Given the description of an element on the screen output the (x, y) to click on. 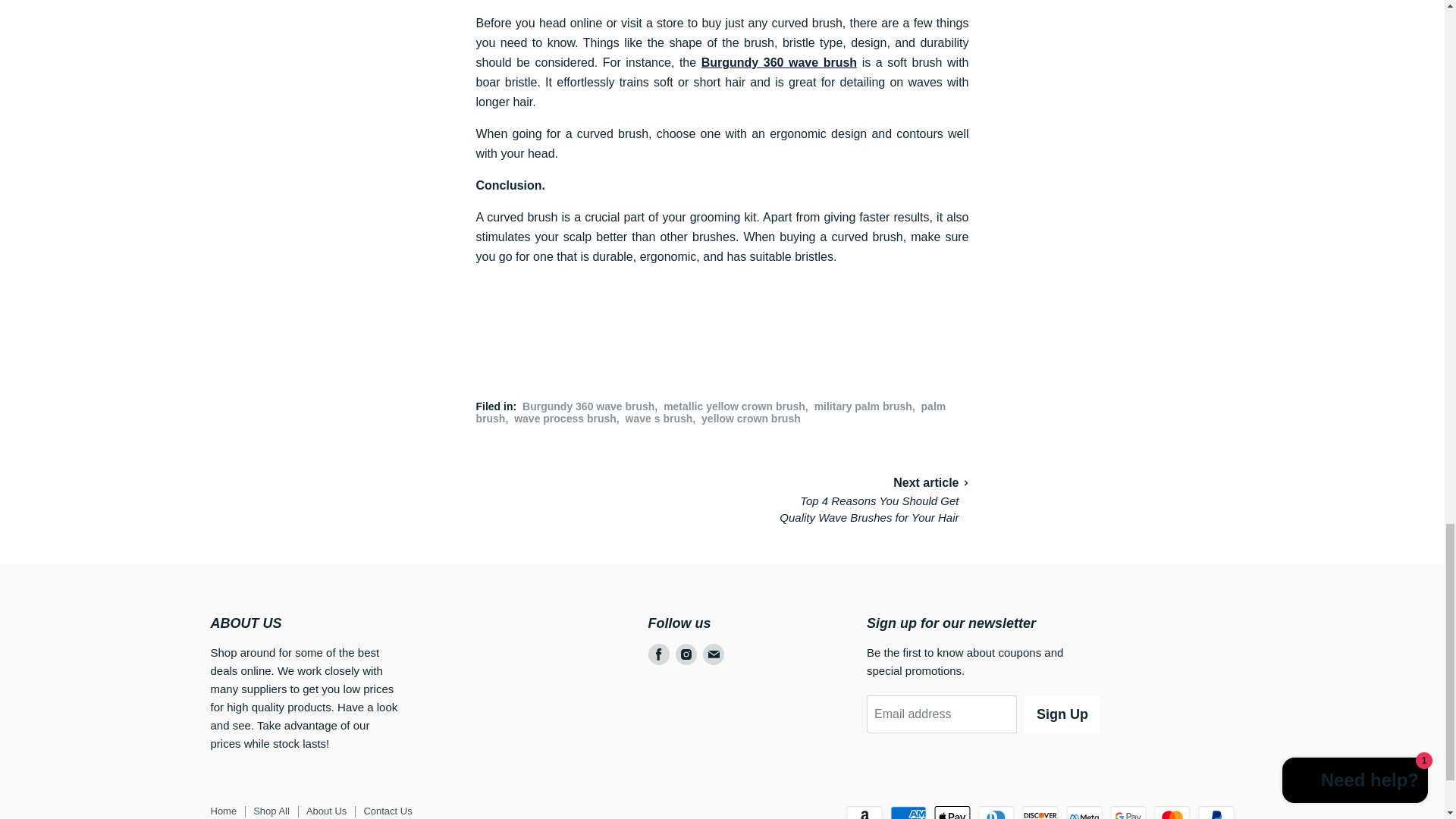
Meta Pay (1083, 812)
yellow crown brush (750, 418)
Amazon (863, 812)
wave process brush (564, 418)
Show articles tagged palm brush (711, 412)
wave s brush (659, 418)
metallic yellow crown brush (734, 406)
Apple Pay (952, 812)
Google Pay (1128, 812)
Show articles tagged military palm brush (862, 406)
American Express (907, 812)
Discover (1040, 812)
Show articles tagged wave process brush (564, 418)
Instagram (684, 654)
Show articles tagged metallic yellow crown brush (734, 406)
